Given the description of an element on the screen output the (x, y) to click on. 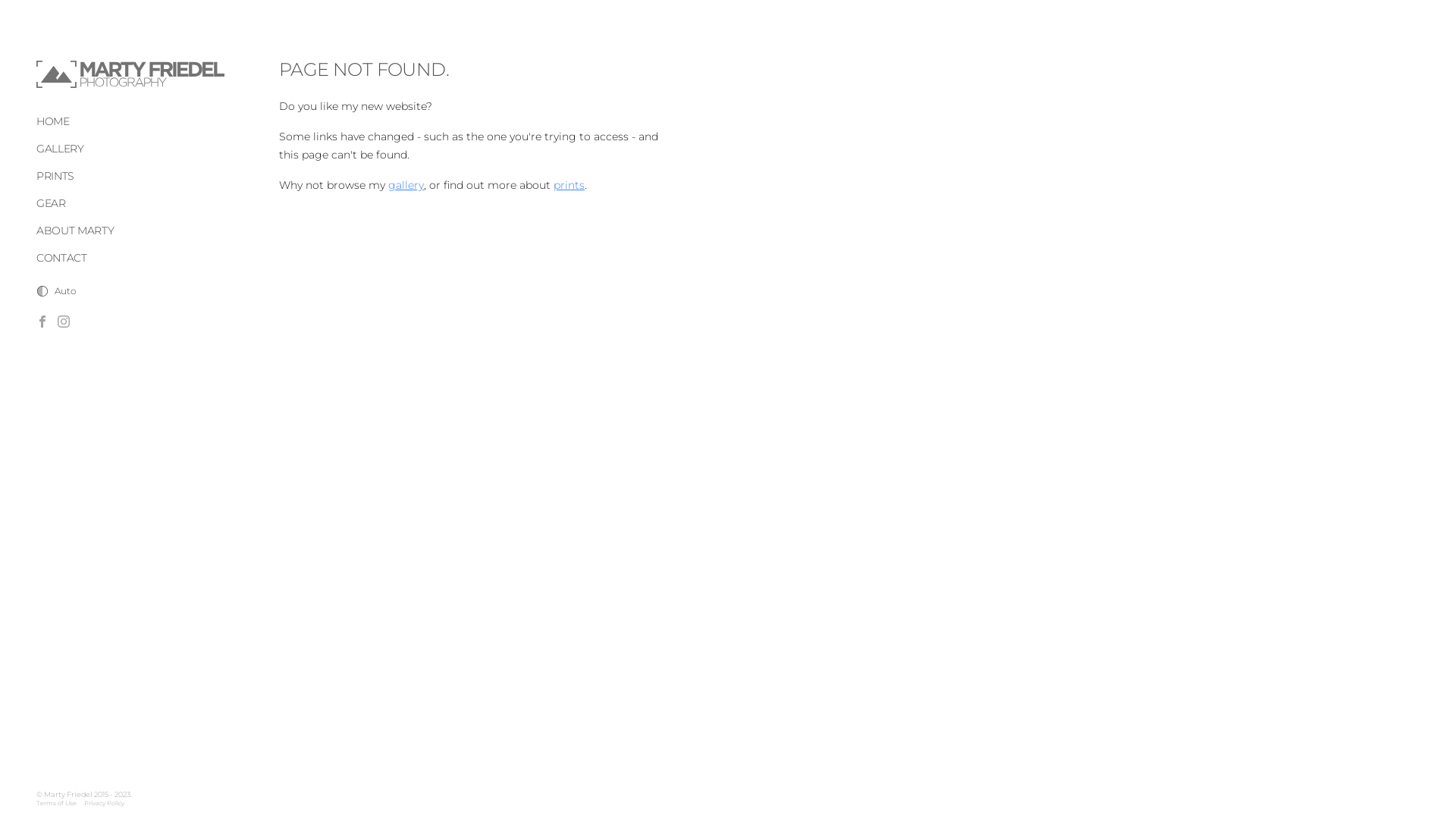
gallery Element type: text (405, 184)
Find me on Facebook Element type: hover (42, 321)
HOME Element type: text (52, 121)
Terms of Use Element type: text (56, 802)
GALLERY Element type: text (60, 148)
ABOUT MARTY Element type: text (74, 230)
Follow me on Instagram Element type: hover (63, 321)
prints Element type: text (568, 184)
Auto Element type: text (55, 291)
PRINTS Element type: text (55, 175)
Privacy Policy Element type: text (104, 802)
CONTACT Element type: text (61, 257)
GEAR Element type: text (50, 203)
